Given the description of an element on the screen output the (x, y) to click on. 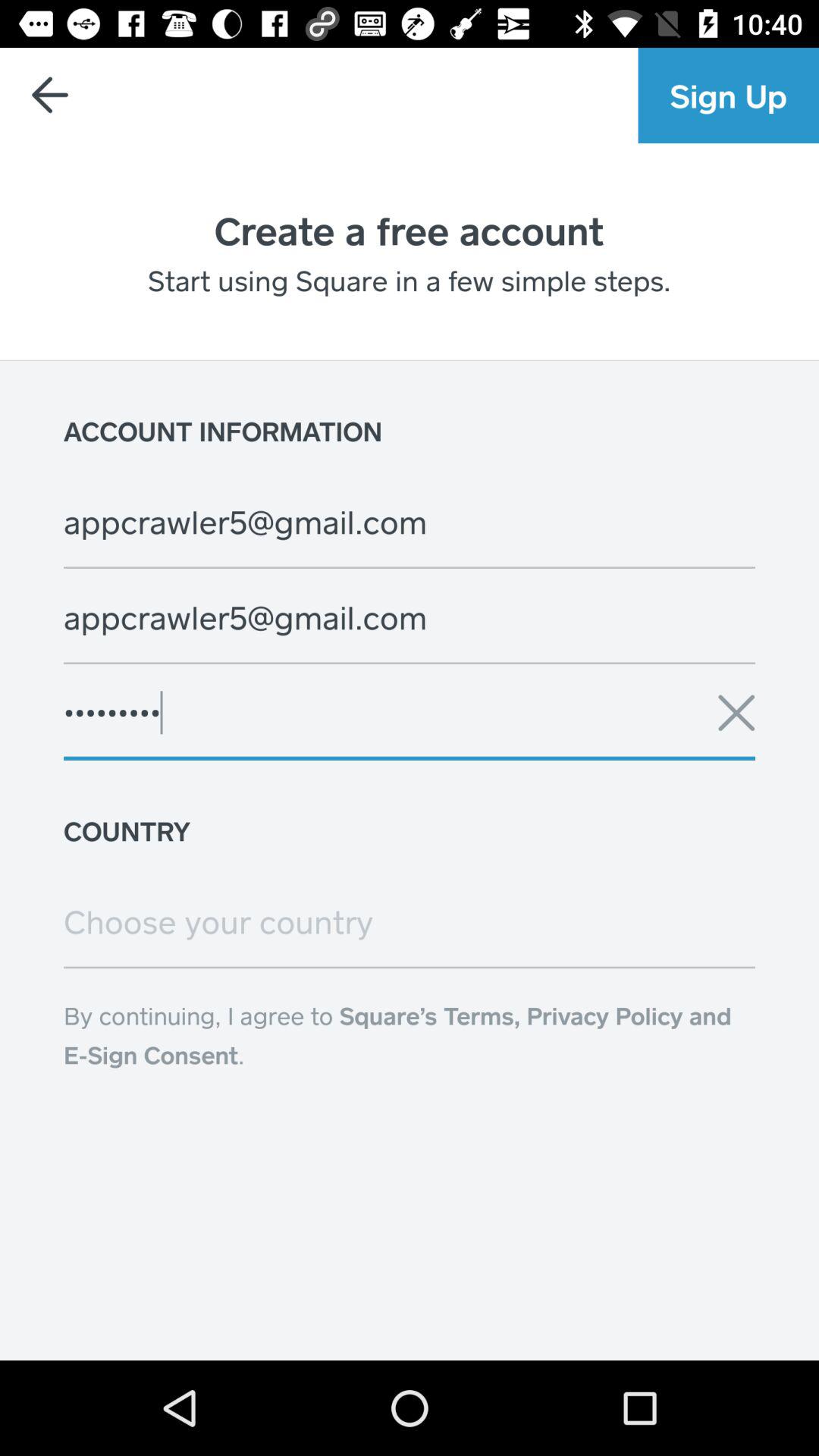
change the country (409, 921)
